Given the description of an element on the screen output the (x, y) to click on. 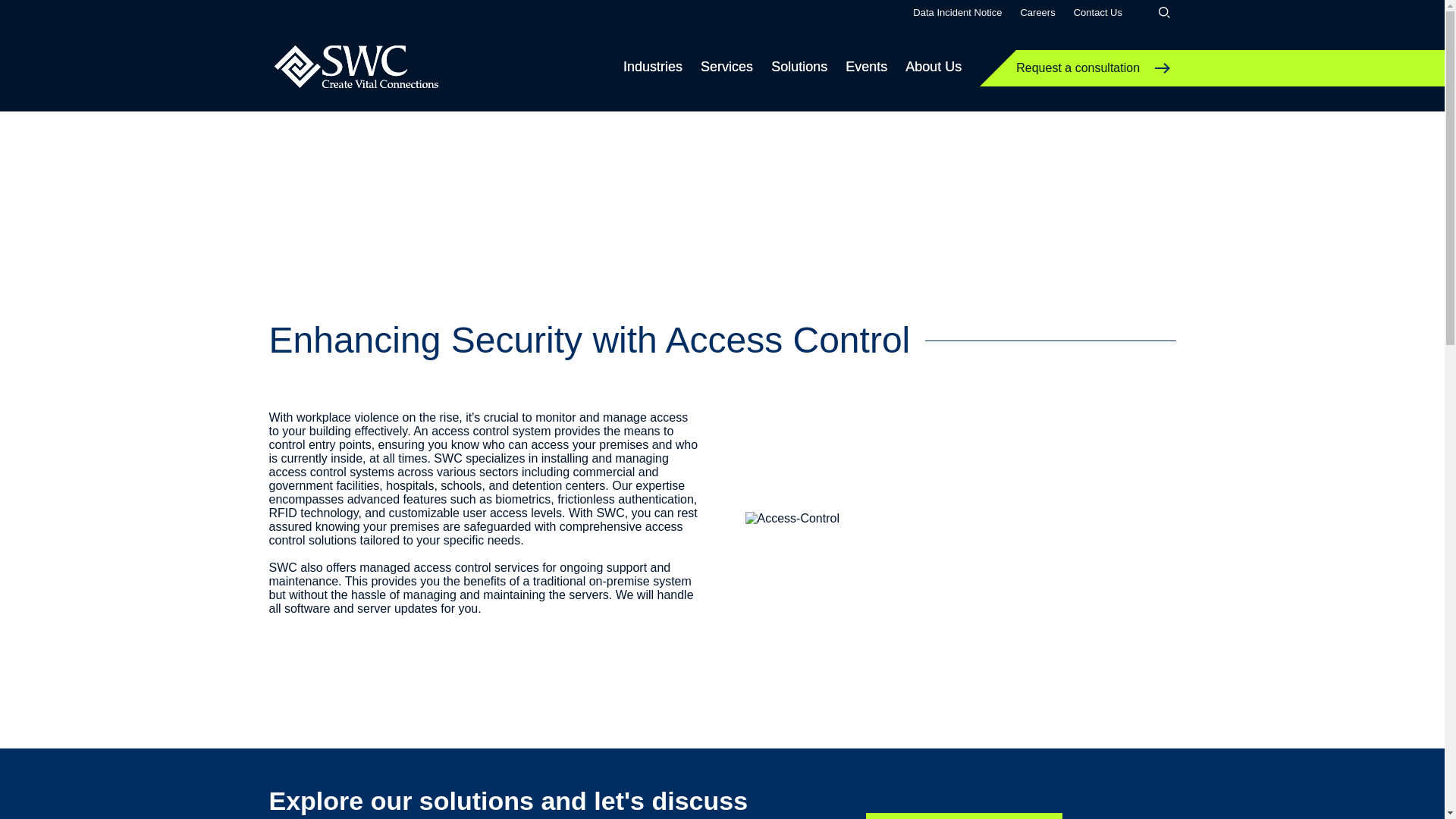
Careers (1037, 12)
Contact Us (1098, 12)
Data Incident Notice (956, 12)
Data Incident Notice (956, 12)
About Us (932, 66)
Events (865, 66)
Solutions (799, 66)
Events (865, 66)
Services (726, 66)
Industries (652, 66)
